Given the description of an element on the screen output the (x, y) to click on. 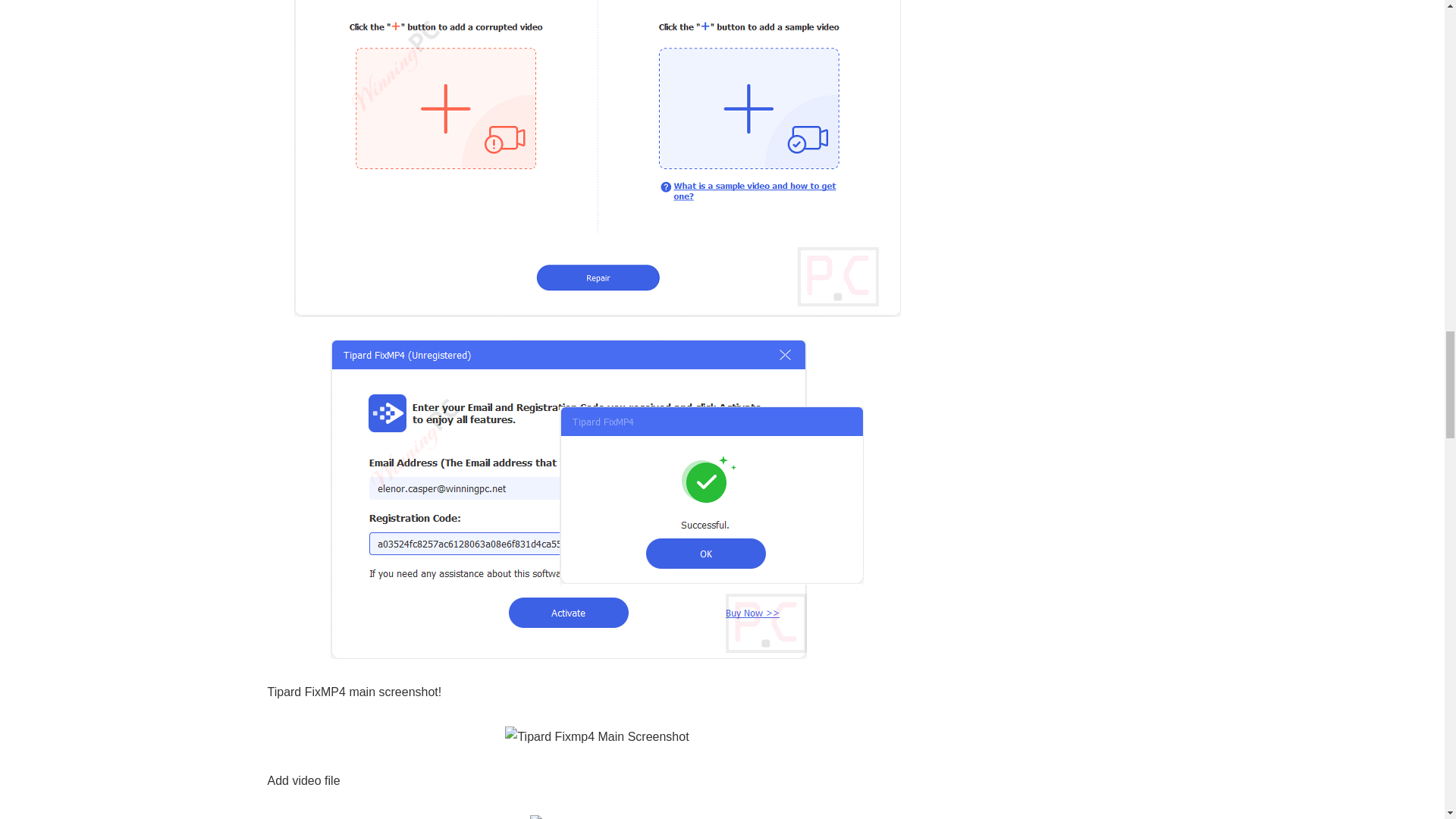
Add Video Files Tipard (596, 816)
Tipard Fixmp4 Main Screenshot (596, 736)
